Given the description of an element on the screen output the (x, y) to click on. 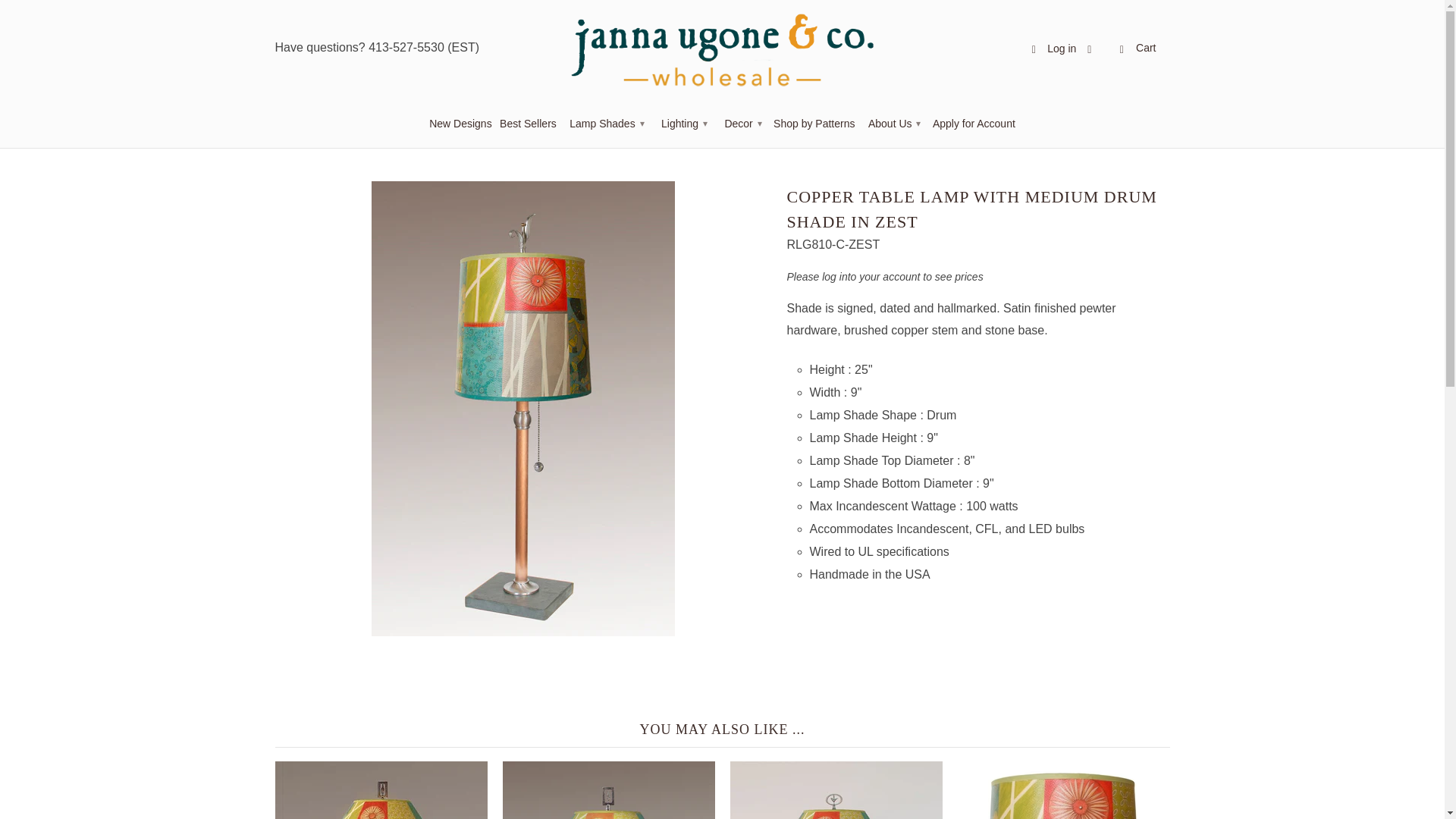
Log in (1051, 51)
New Designs (460, 126)
My Account  (1051, 51)
Best Sellers (527, 126)
Cart (1136, 48)
